Given the description of an element on the screen output the (x, y) to click on. 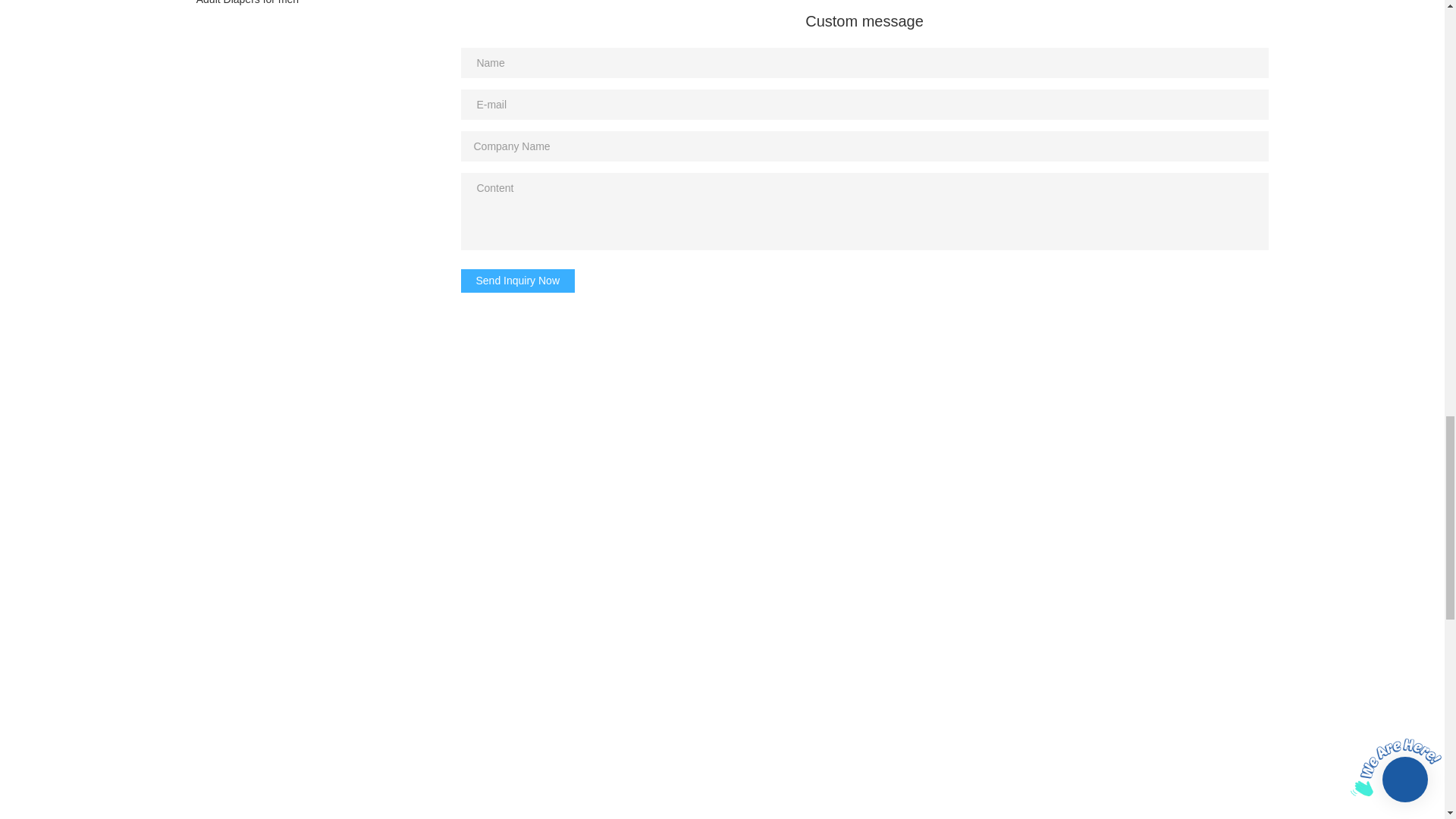
Send Inquiry Now (518, 280)
